Given the description of an element on the screen output the (x, y) to click on. 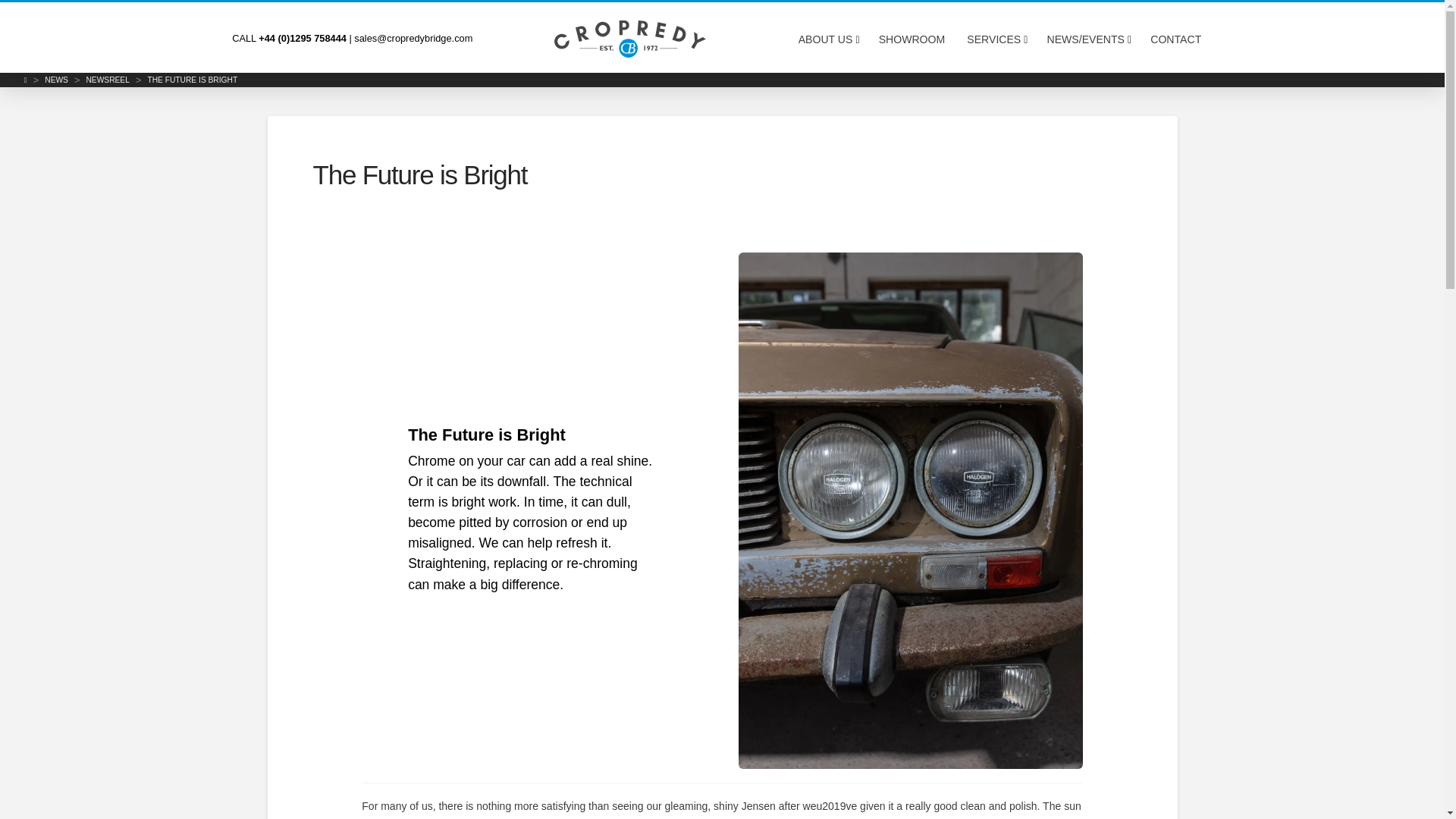
NEWSREEL (107, 80)
You Are Here (192, 80)
ABOUT US (827, 38)
NEWS (56, 80)
THE FUTURE IS BRIGHT (192, 80)
CONTACT (1176, 38)
SERVICES (995, 38)
SHOWROOM (911, 38)
